Given the description of an element on the screen output the (x, y) to click on. 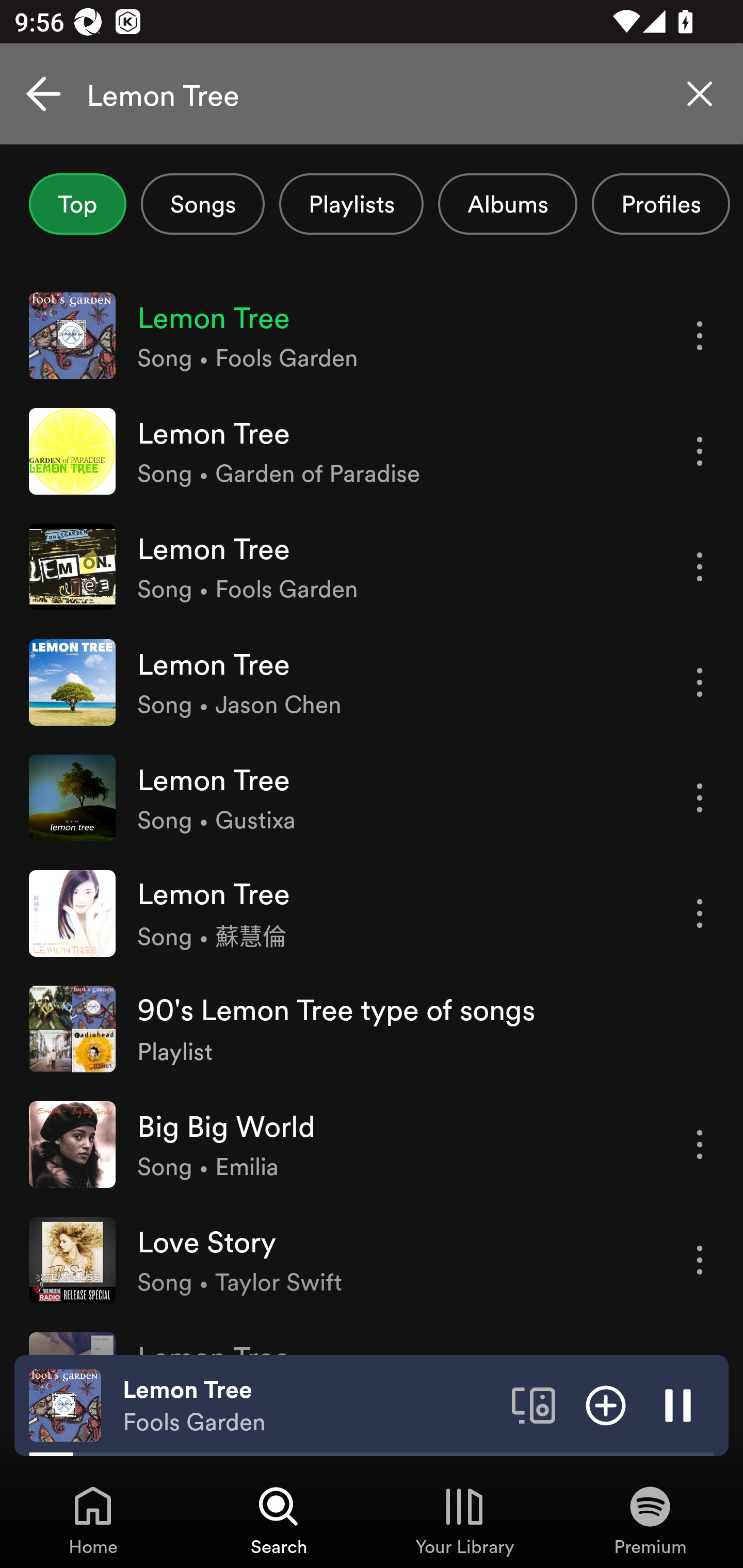
Lemon Tree (371, 93)
Cancel (43, 93)
Clear search query (699, 93)
Top (77, 203)
Songs (202, 203)
Playlists (351, 203)
Albums (507, 203)
Profiles (661, 203)
More options for song Lemon Tree (699, 336)
More options for song Lemon Tree (699, 450)
More options for song Lemon Tree (699, 566)
More options for song Lemon Tree (699, 682)
More options for song Lemon Tree (699, 798)
More options for song Lemon Tree (699, 913)
90's Lemon Tree type of songs Playlist (371, 1028)
More options for song Big Big World (699, 1144)
More options for song Love Story (699, 1259)
Lemon Tree Fools Garden (309, 1405)
The cover art of the currently playing track (64, 1404)
Connect to a device. Opens the devices menu (533, 1404)
Add item (605, 1404)
Pause (677, 1404)
Home, Tab 1 of 4 Home Home (92, 1519)
Search, Tab 2 of 4 Search Search (278, 1519)
Your Library, Tab 3 of 4 Your Library Your Library (464, 1519)
Premium, Tab 4 of 4 Premium Premium (650, 1519)
